Given the description of an element on the screen output the (x, y) to click on. 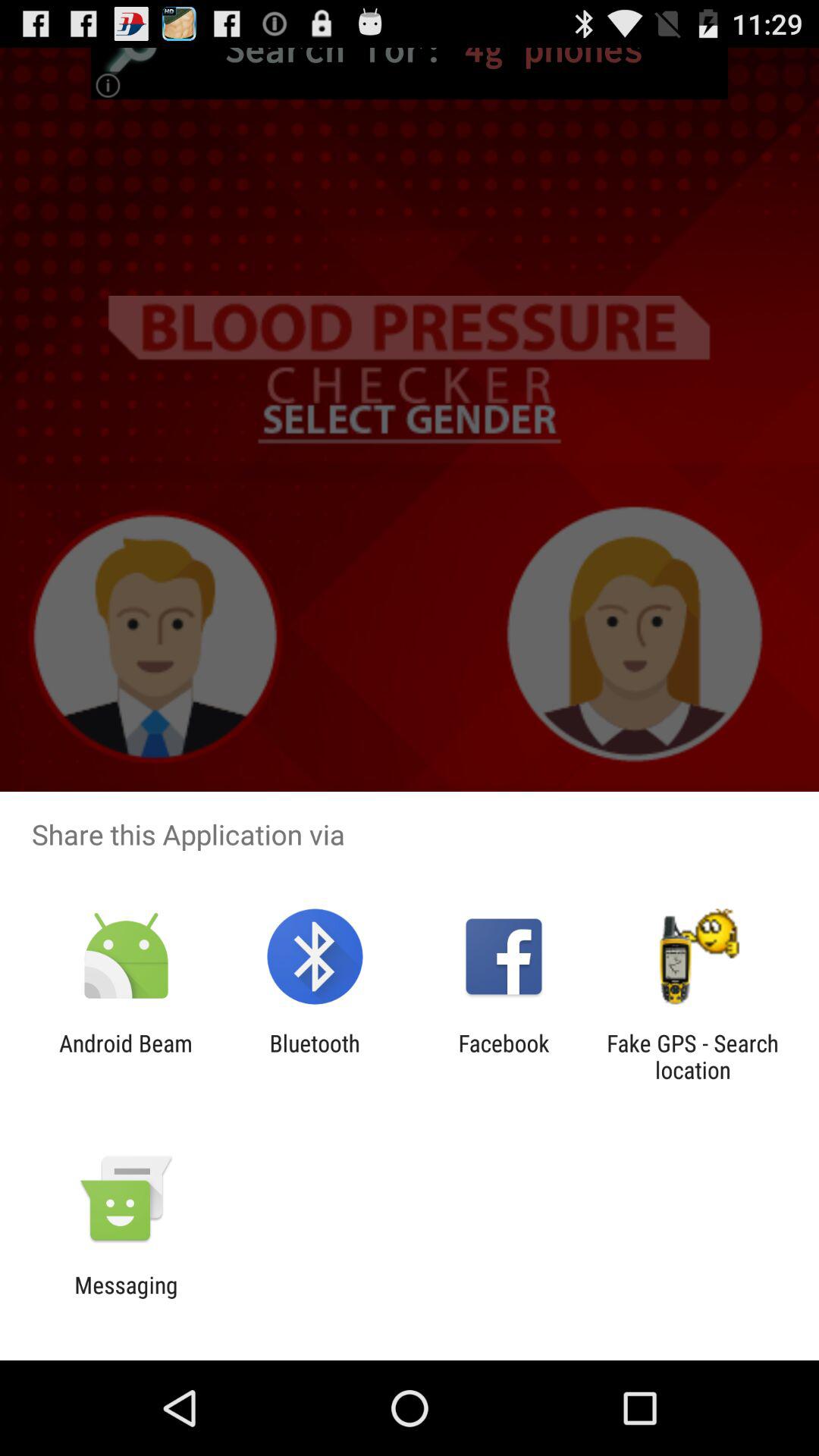
select the bluetooth icon (314, 1056)
